Given the description of an element on the screen output the (x, y) to click on. 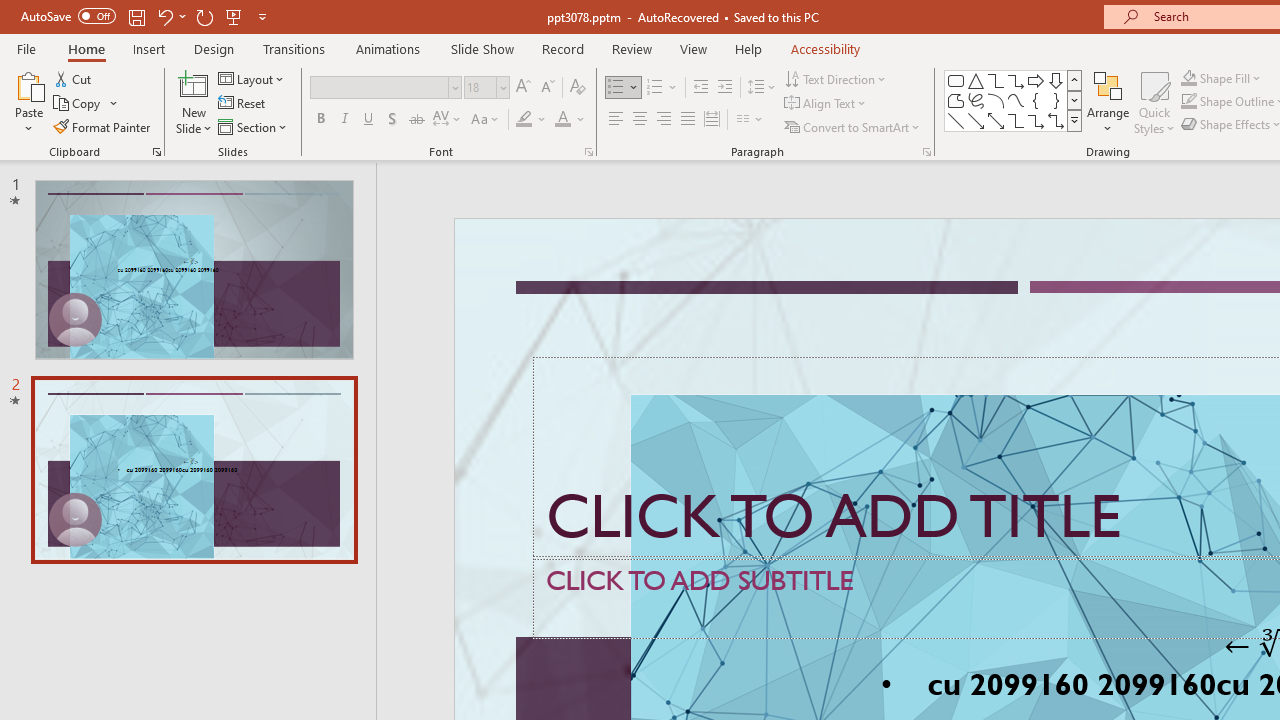
New Slide (193, 84)
Font Color Red (562, 119)
Customize Quick Access Toolbar (262, 15)
Numbering (661, 87)
Quick Access Toolbar (145, 16)
Bullets (623, 87)
Align Left (616, 119)
Format Painter (103, 126)
